Given the description of an element on the screen output the (x, y) to click on. 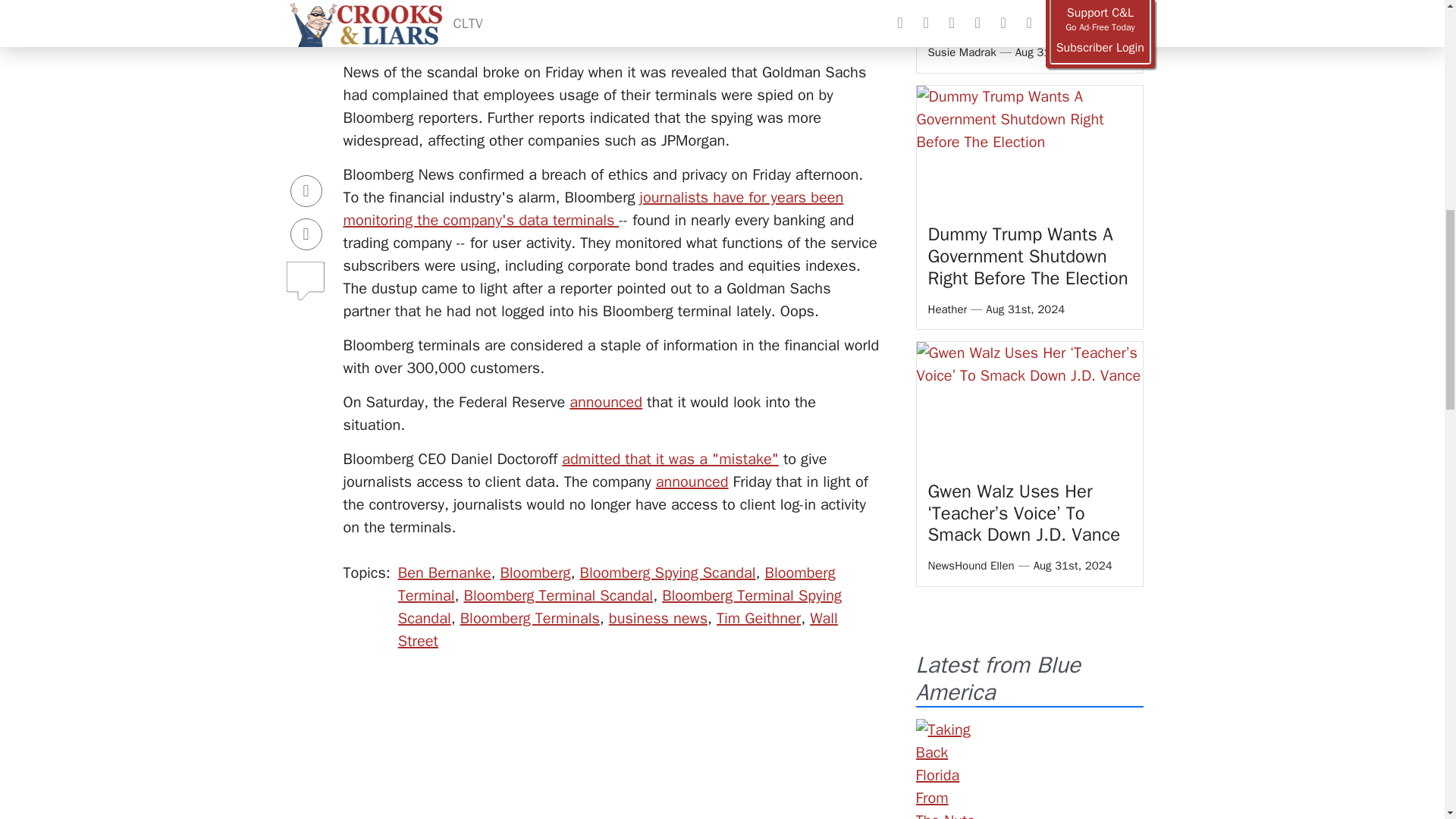
announced (605, 402)
Ben Bernanke (444, 572)
admitted that it was a "mistake" (670, 458)
announced (692, 481)
Bloomberg (534, 572)
